Given the description of an element on the screen output the (x, y) to click on. 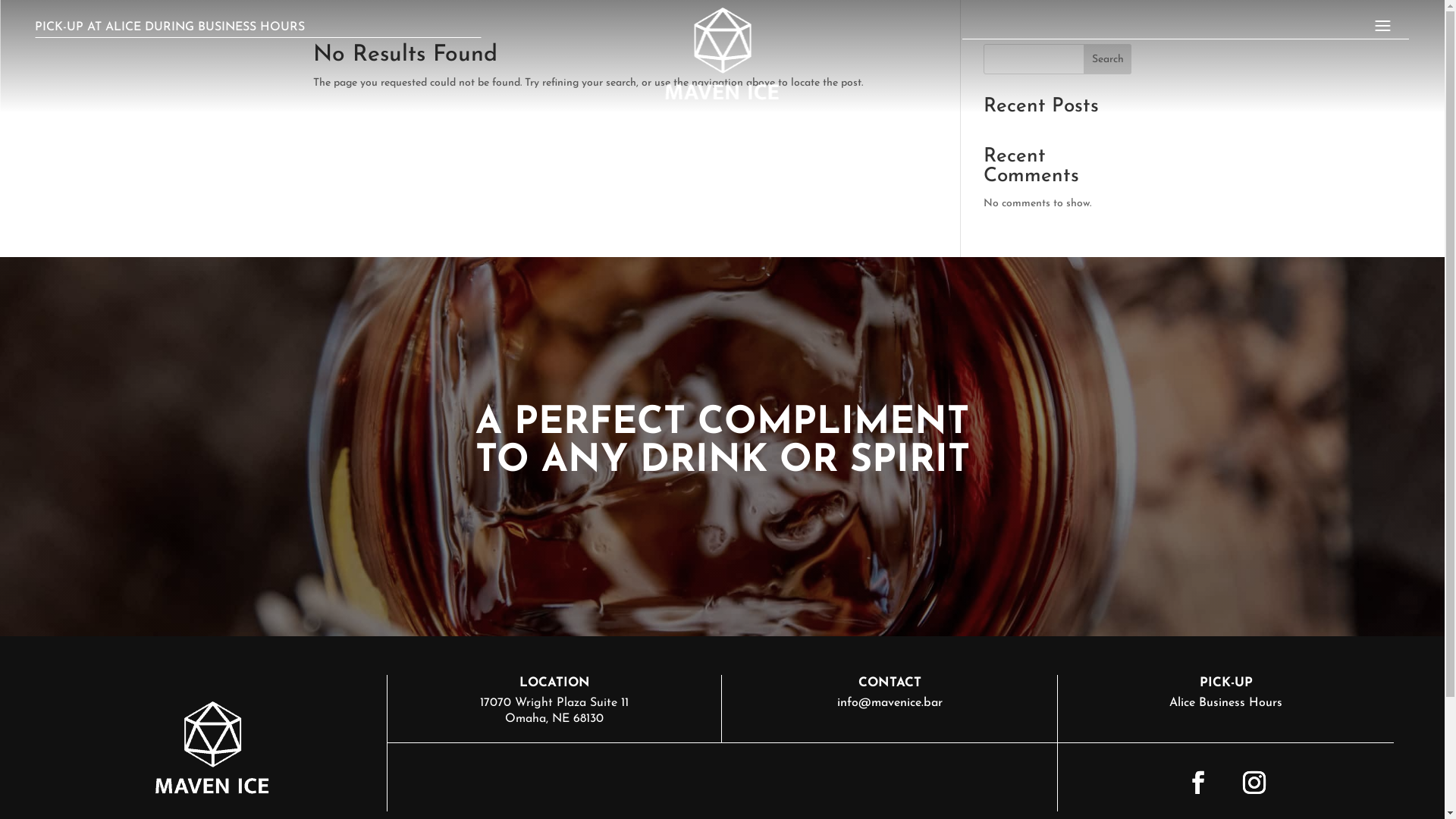
info@mavenice.bar Element type: text (889, 702)
Follow on Instagram Element type: hover (1254, 782)
MAVEN-ICELogoBLK-e1674315428414 Element type: hover (211, 749)
Search Element type: text (1107, 58)
Follow on Facebook Element type: hover (1197, 782)
MAVEN-ICELogoBLK-e1674315428414 Element type: hover (722, 55)
